Given the description of an element on the screen output the (x, y) to click on. 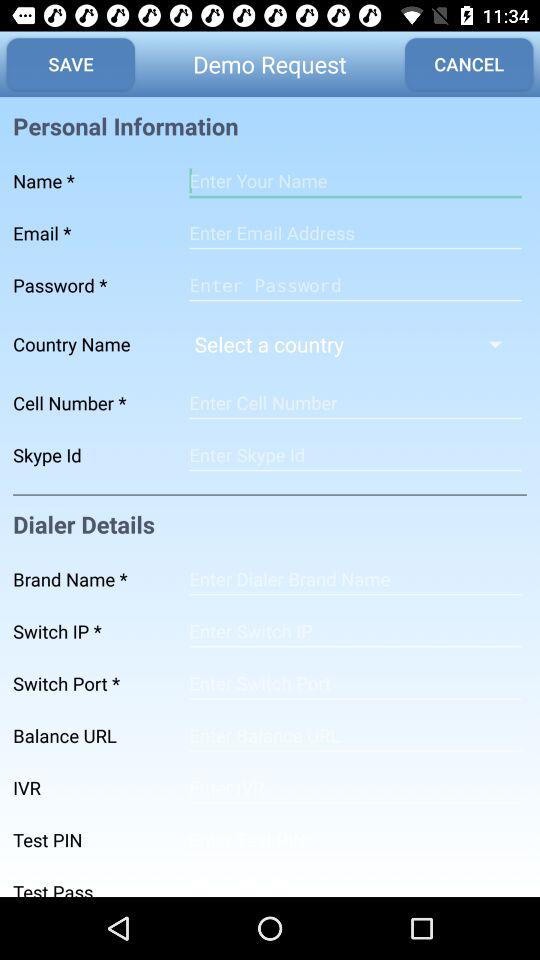
digit your name (355, 181)
